Given the description of an element on the screen output the (x, y) to click on. 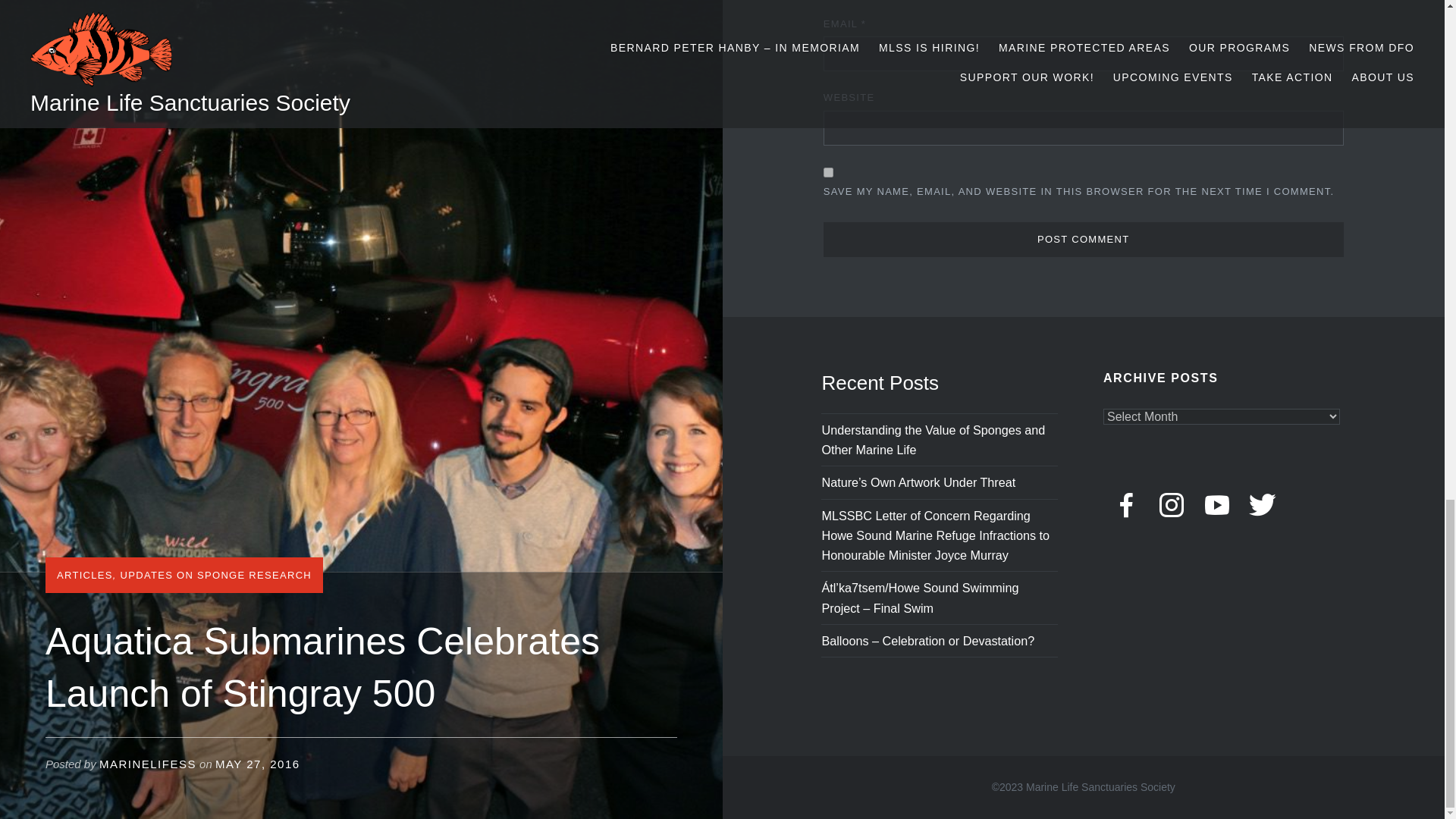
Post Comment (1083, 239)
yes (828, 172)
